Given the description of an element on the screen output the (x, y) to click on. 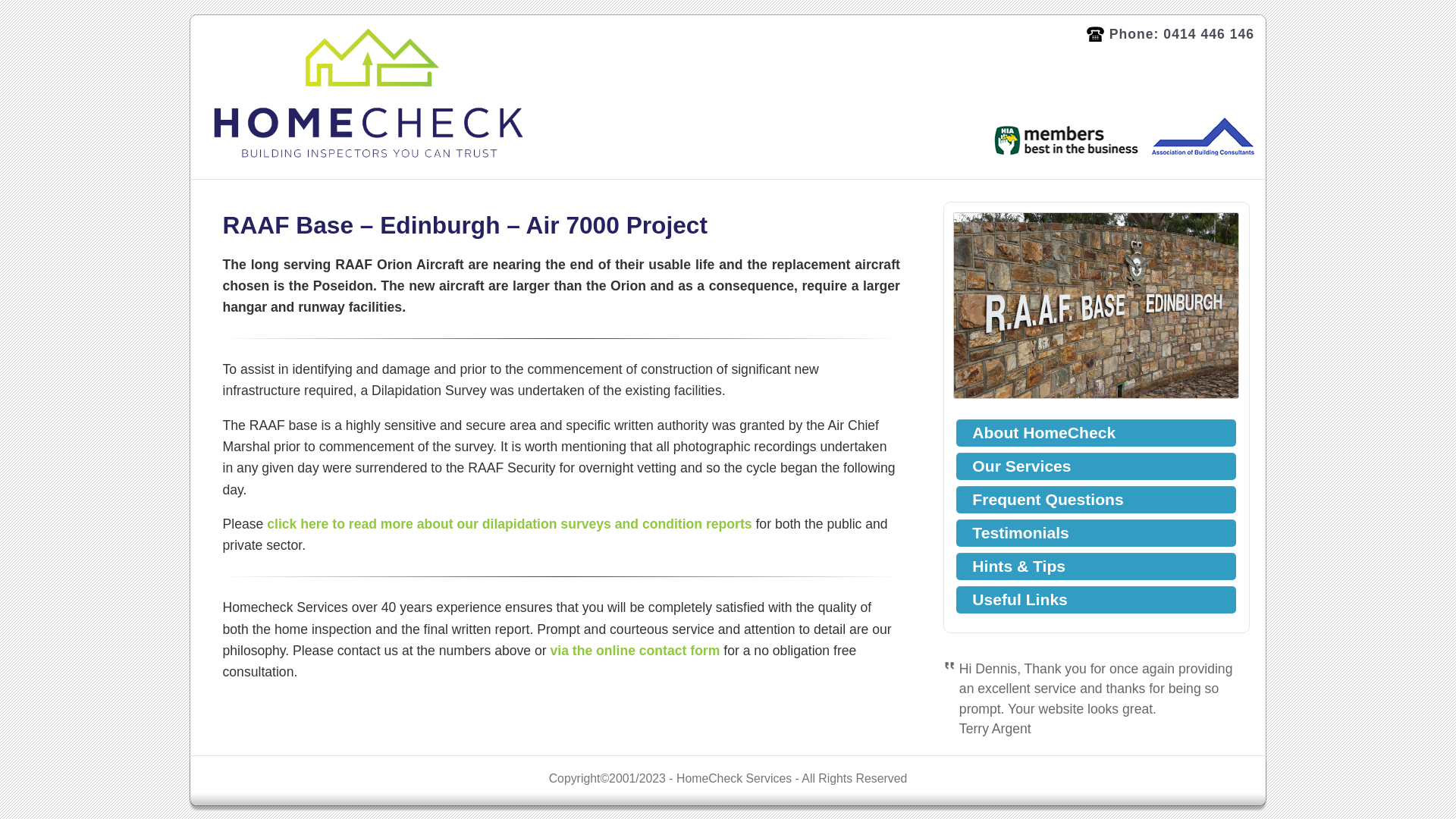
via the online contact form Element type: text (635, 650)
Useful Links Element type: text (1095, 599)
Phone: 0414 446 146 Element type: text (1170, 34)
Testimonials Element type: text (1095, 532)
Hints & Tips Element type: text (1095, 566)
Our Services Element type: text (1095, 465)
About HomeCheck Element type: text (1095, 432)
Click here to open the home page of HomeCheck Services Element type: hover (367, 93)
Frequent Questions Element type: text (1095, 499)
